Given the description of an element on the screen output the (x, y) to click on. 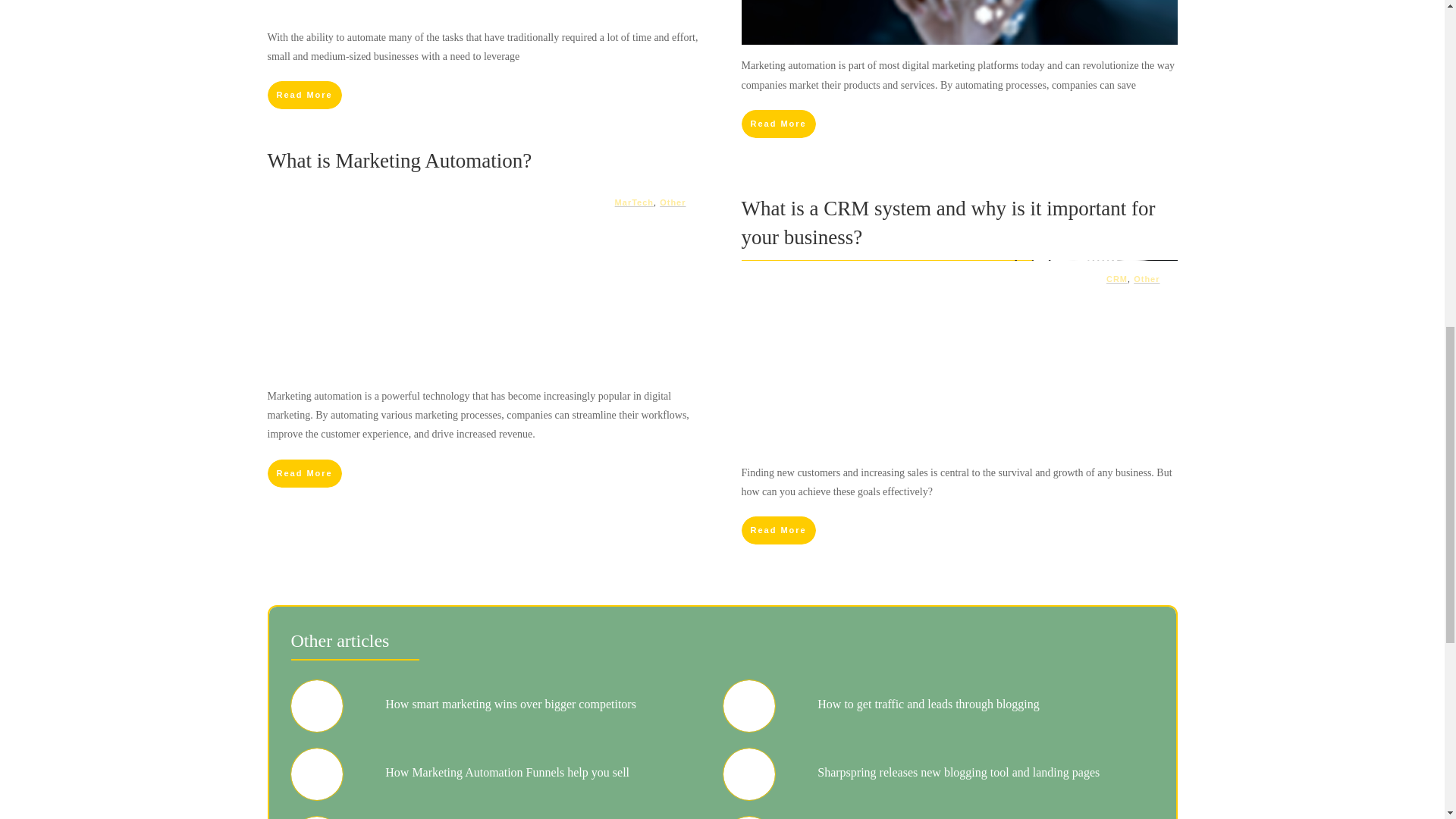
Read More (303, 473)
Other (672, 202)
Read More (303, 94)
Other (672, 202)
Other (1146, 278)
CRM (1116, 278)
Read More (778, 123)
MarTech (633, 202)
What is Marketing Automation? (398, 160)
